Given the description of an element on the screen output the (x, y) to click on. 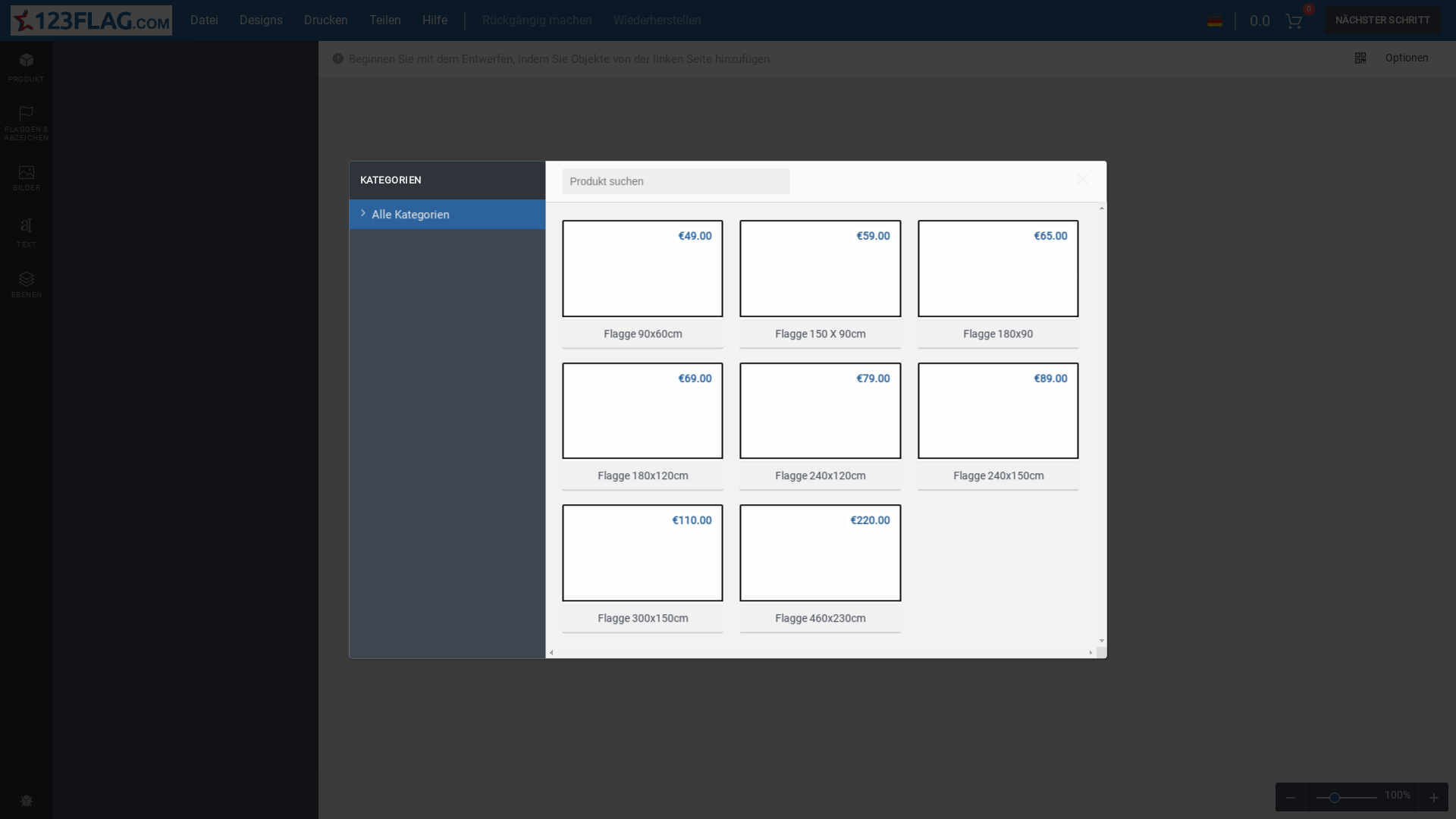
0 Element type: text (1293, 20)
Close Element type: hover (1082, 181)
